Given the description of an element on the screen output the (x, y) to click on. 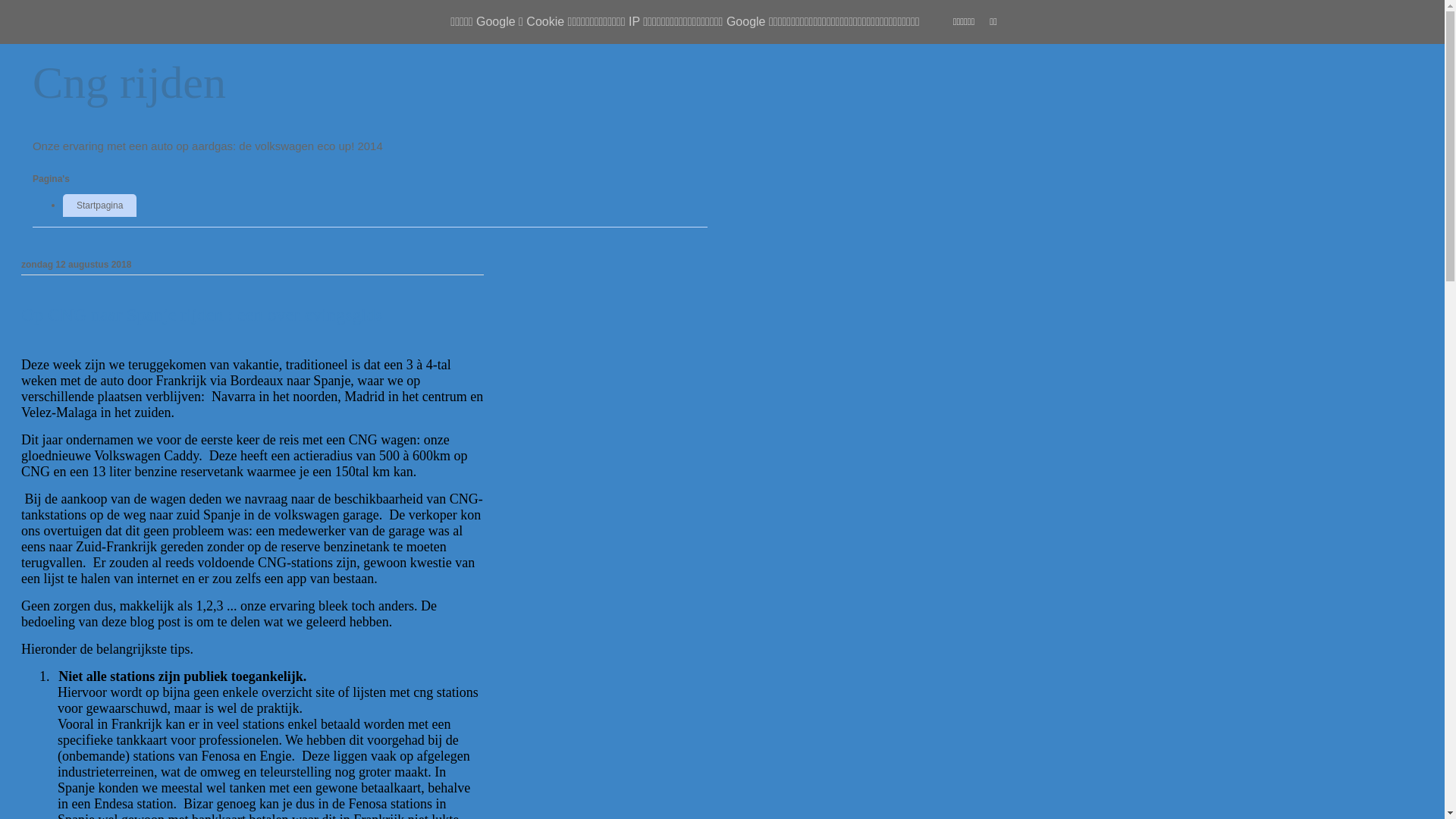
Cng rijden Element type: text (128, 82)
Startpagina Element type: text (99, 205)
